Given the description of an element on the screen output the (x, y) to click on. 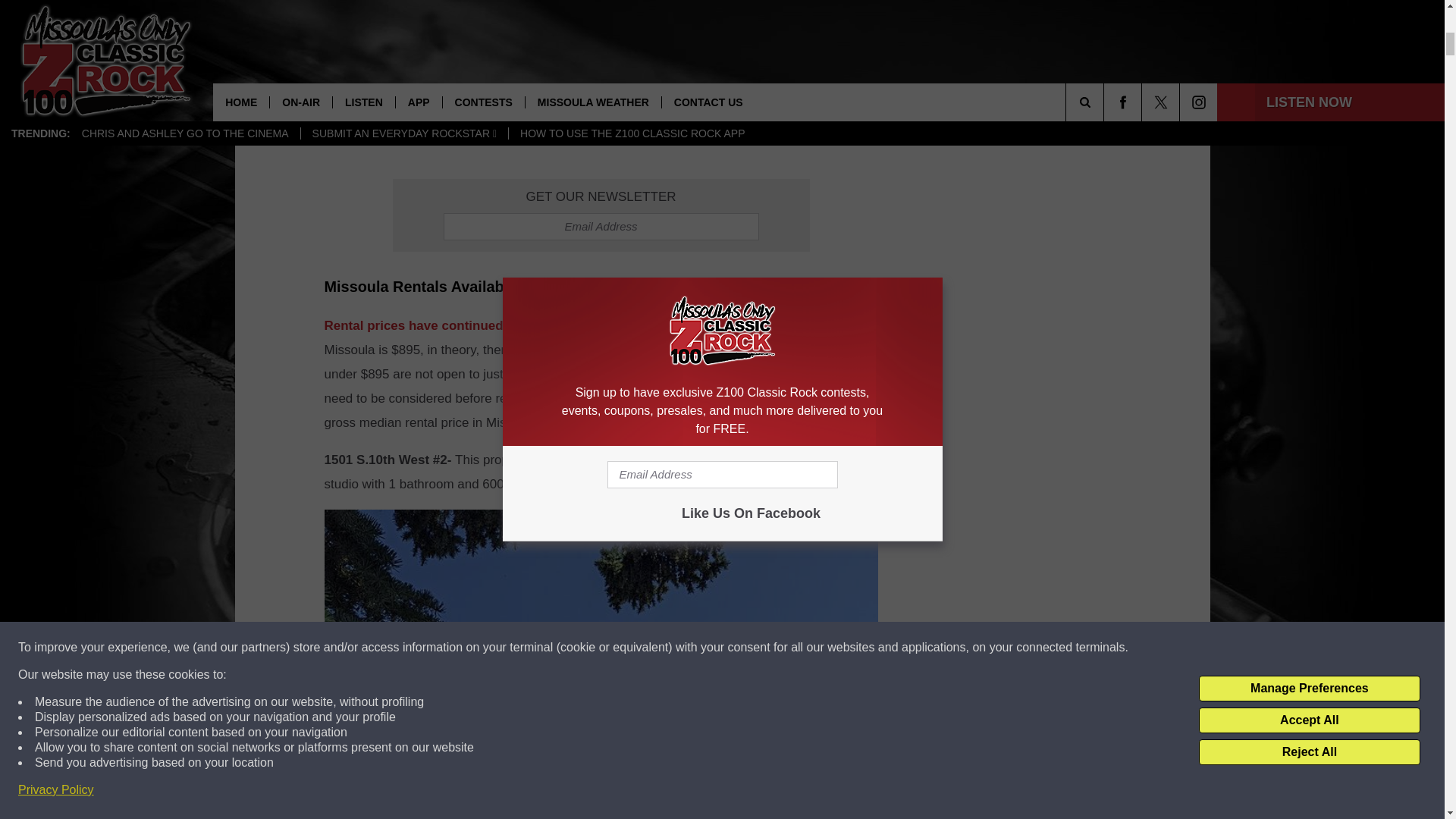
Email Address (600, 226)
